Given the description of an element on the screen output the (x, y) to click on. 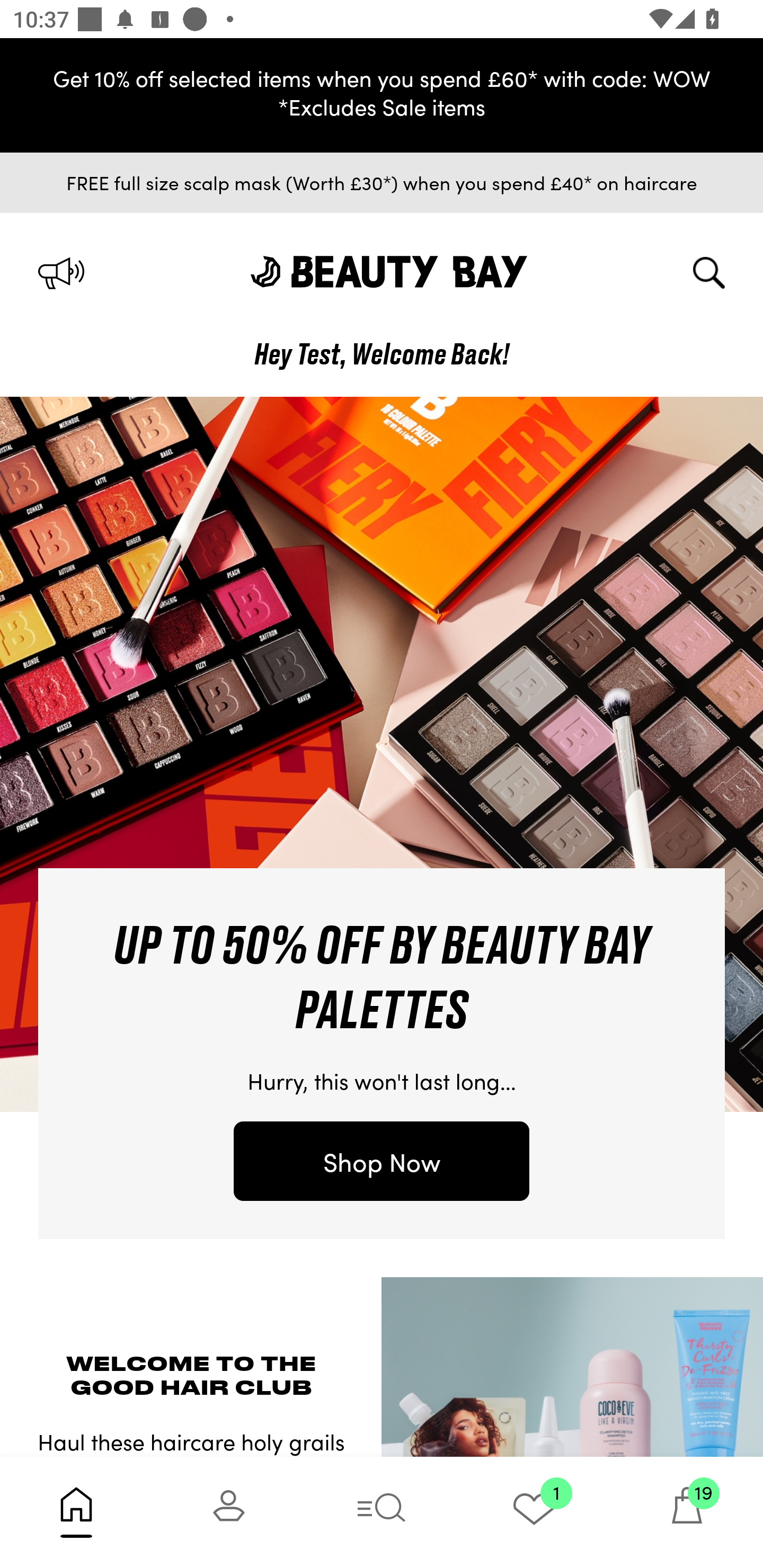
1 (533, 1512)
19 (686, 1512)
